Given the description of an element on the screen output the (x, y) to click on. 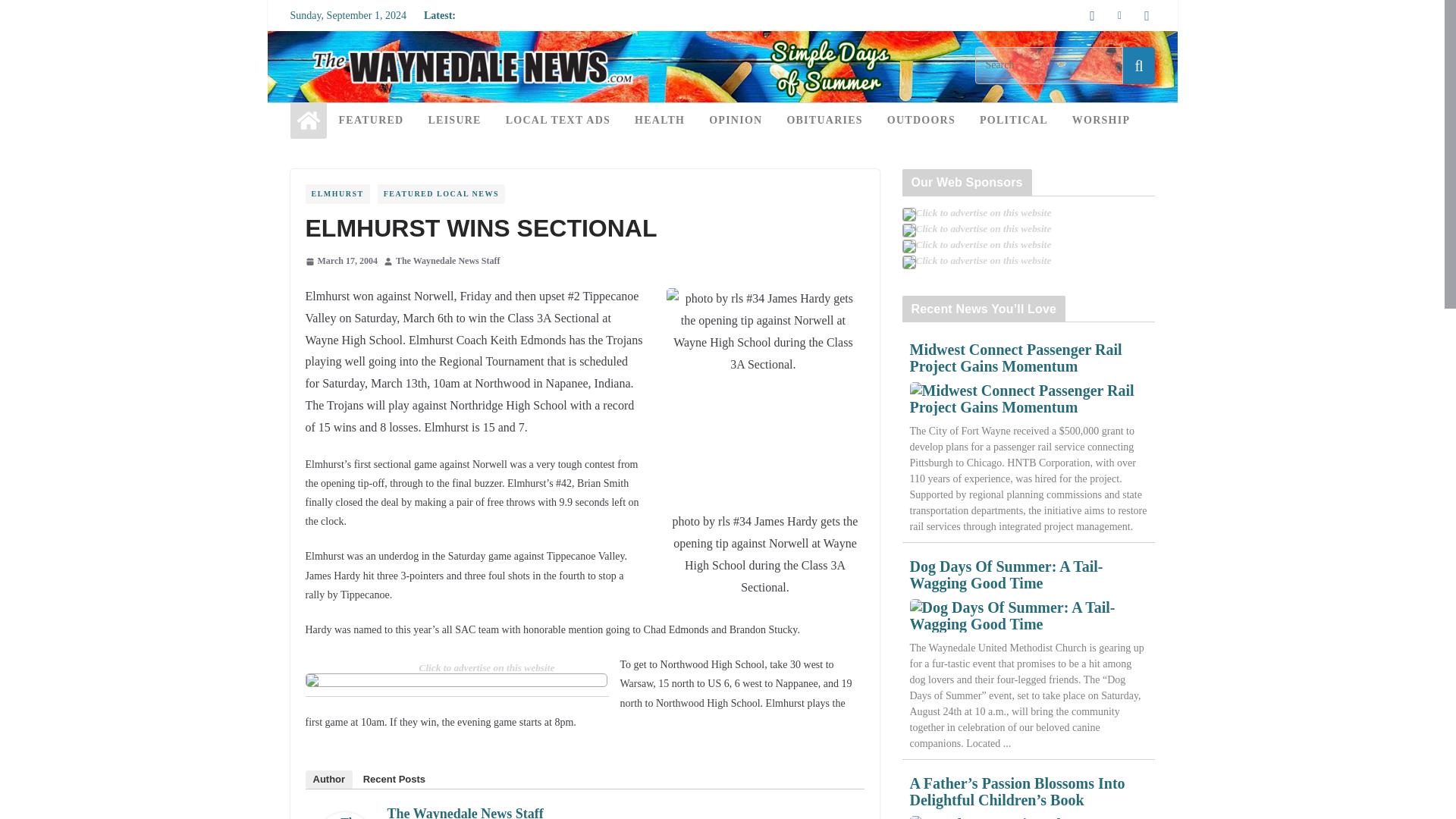
The Waynedale News (307, 120)
Midwest Connect Passenger Rail Project Gains Momentum (1028, 398)
POLITICAL (1013, 120)
The Waynedale News Staff (447, 261)
ELMHURST (336, 193)
The Waynedale News (721, 41)
OBITUARIES (823, 120)
Recent Posts (393, 779)
Dog Days Of Summer: A Tail-Wagging Good Time (1028, 615)
Click to advertise on this website (486, 667)
